Given the description of an element on the screen output the (x, y) to click on. 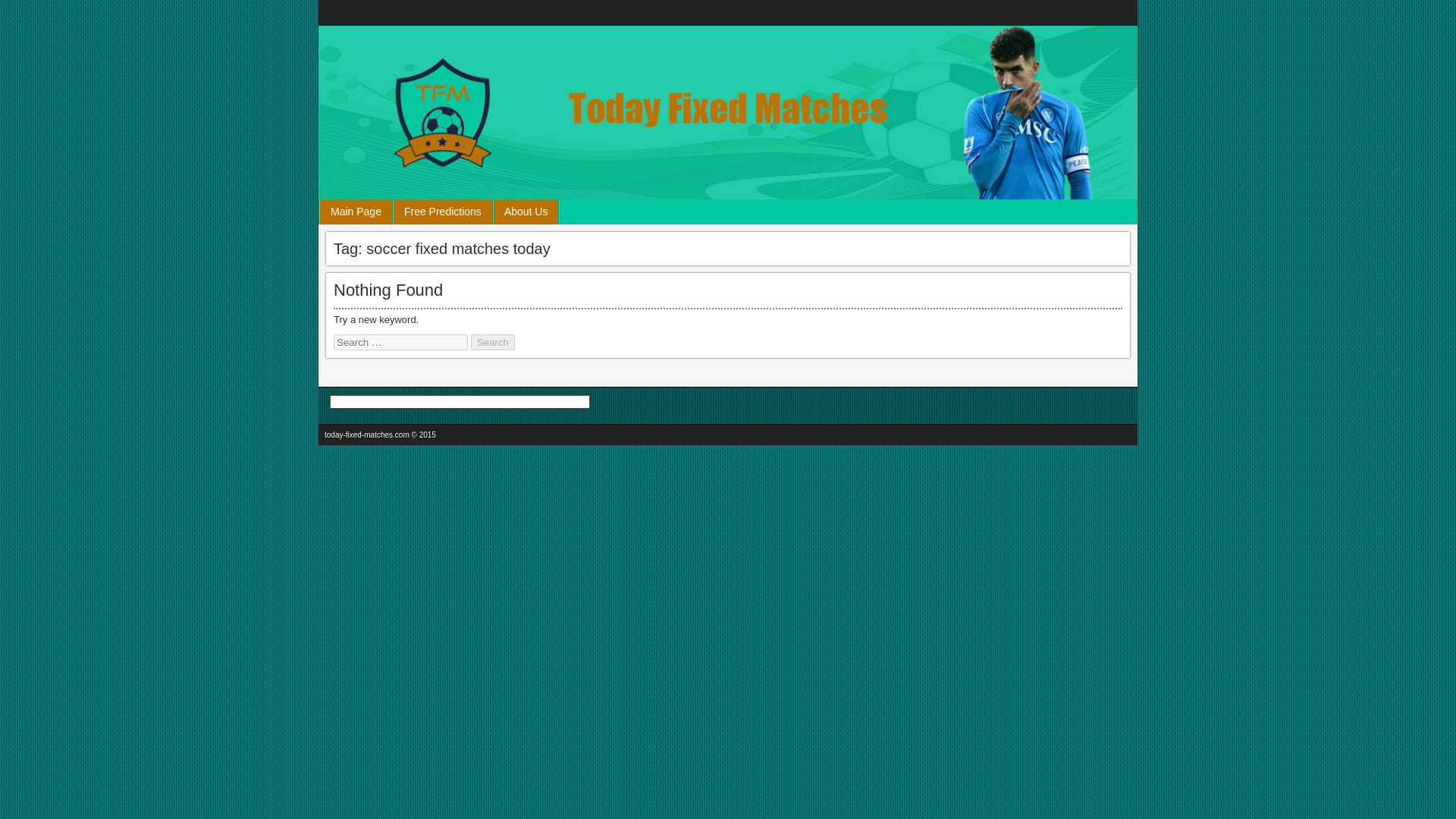
Search (492, 342)
Search (492, 342)
Free Predictions (442, 211)
Search (492, 342)
Main Page (355, 211)
About Us (526, 211)
